Given the description of an element on the screen output the (x, y) to click on. 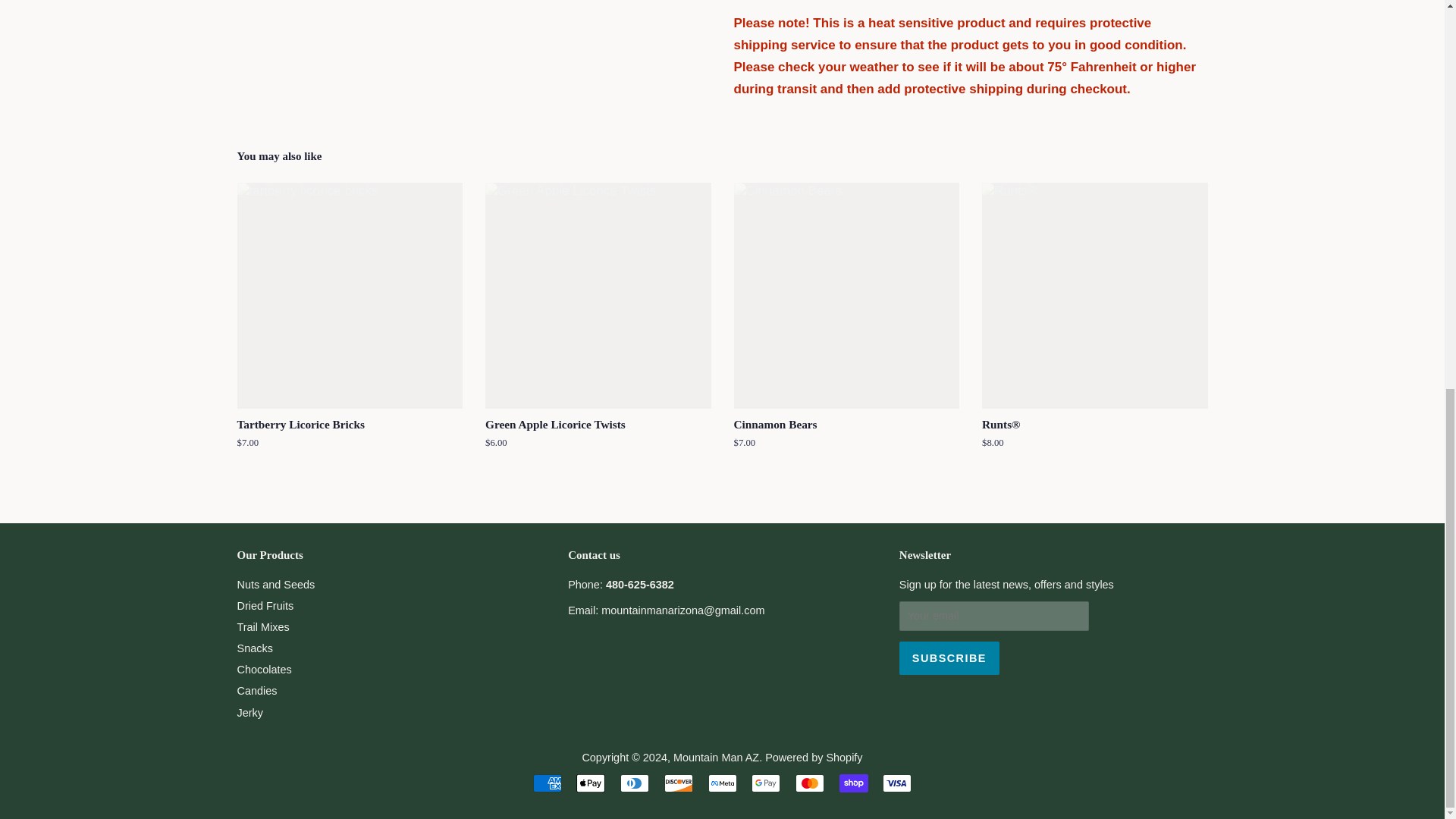
Shop Pay (853, 782)
Google Pay (765, 782)
Discover (678, 782)
Diners Club (634, 782)
Meta Pay (721, 782)
Apple Pay (590, 782)
American Express (547, 782)
Visa (896, 782)
Mastercard (809, 782)
Subscribe (948, 657)
